Given the description of an element on the screen output the (x, y) to click on. 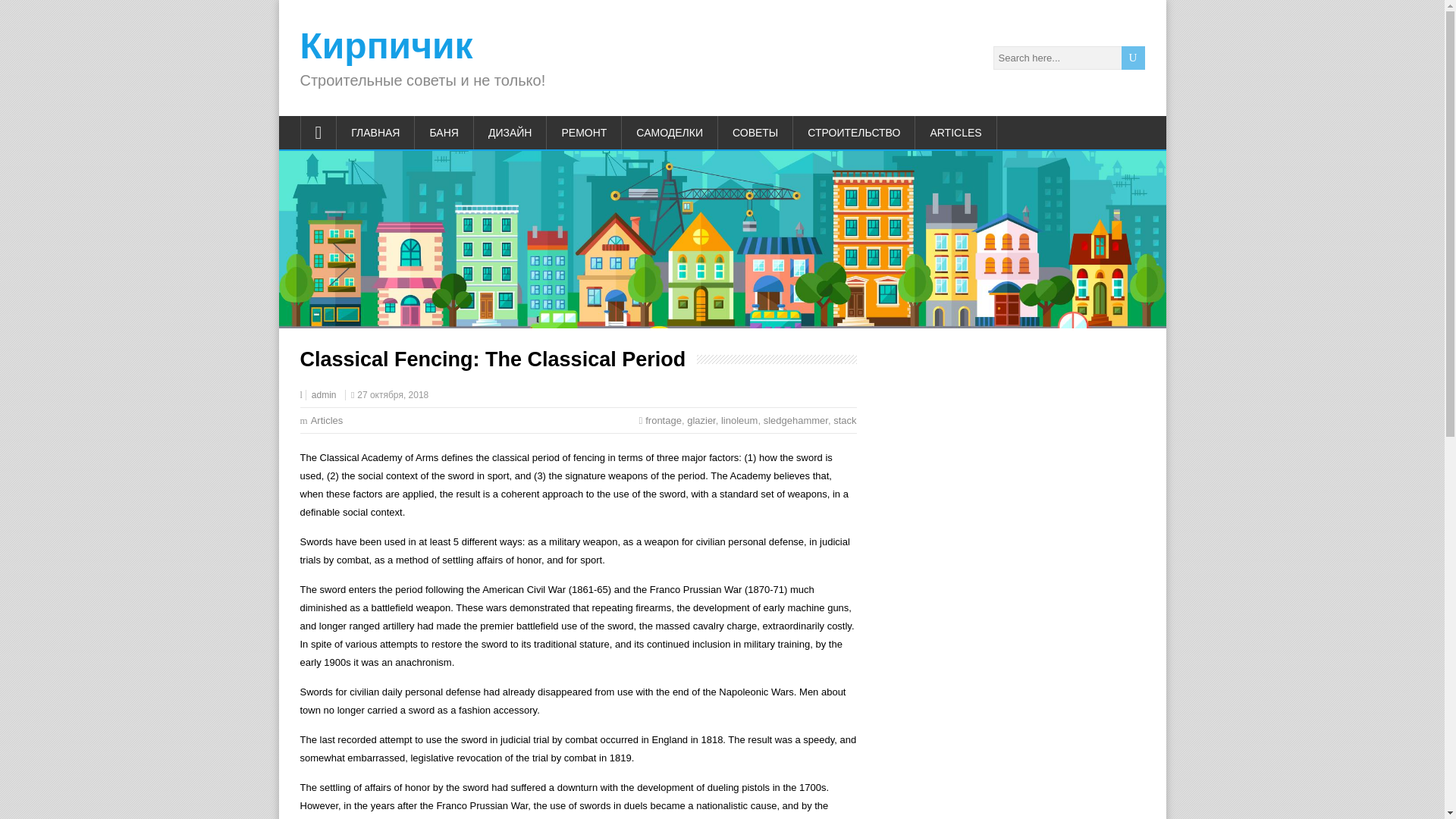
stack (844, 419)
admin (323, 394)
Articles (327, 419)
U (1132, 57)
linoleum (738, 419)
U (1132, 57)
frontage (663, 419)
sledgehammer (795, 419)
U (1132, 57)
glazier (701, 419)
